Given the description of an element on the screen output the (x, y) to click on. 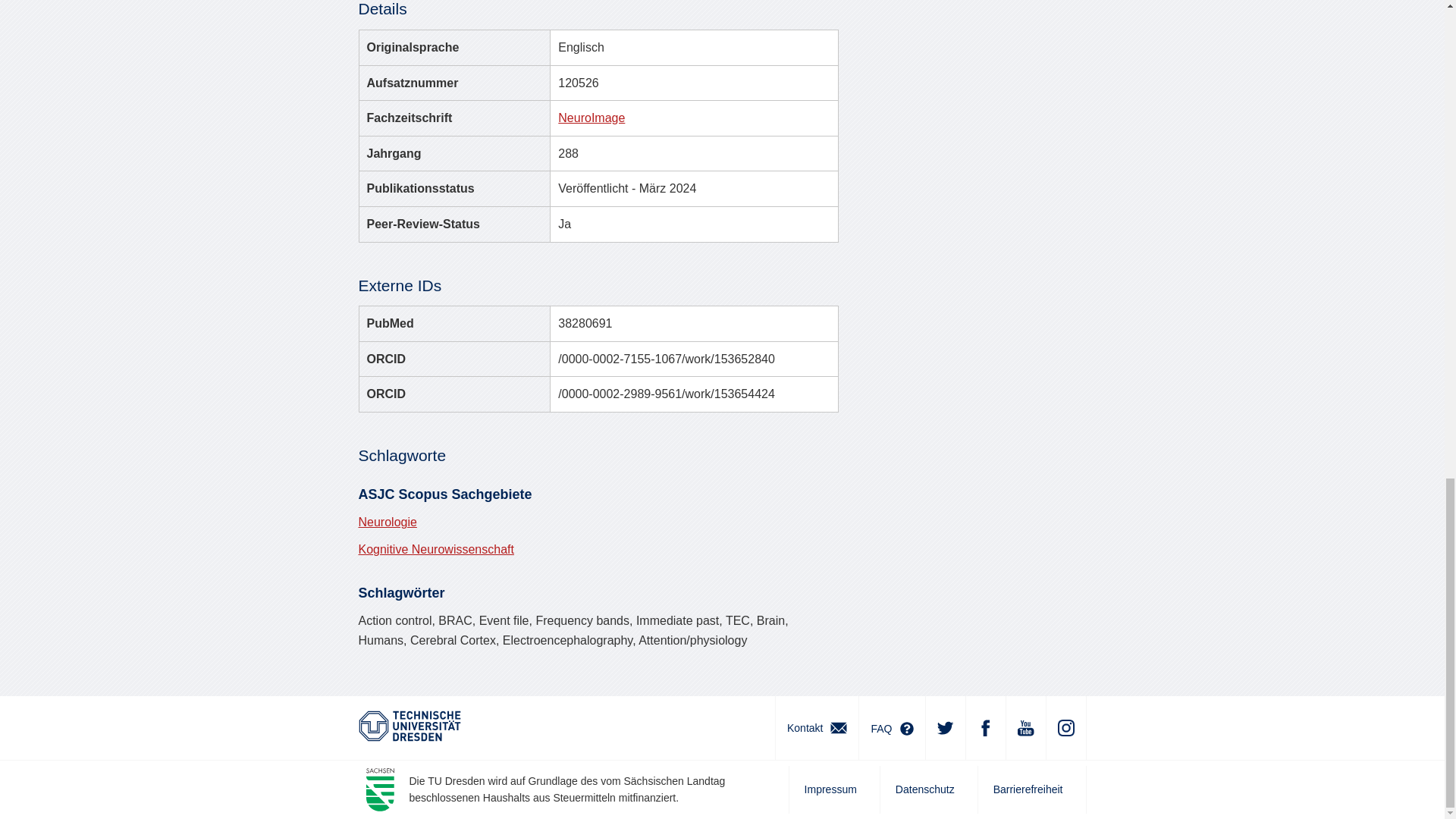
NeuroImage (590, 117)
Datenschutz (927, 789)
Kontakt (816, 728)
Kognitive Neurowissenschaft (435, 549)
Barrierefreiheit (1031, 789)
Neurologie (387, 521)
FAQ (891, 728)
Impressum (834, 789)
